Given the description of an element on the screen output the (x, y) to click on. 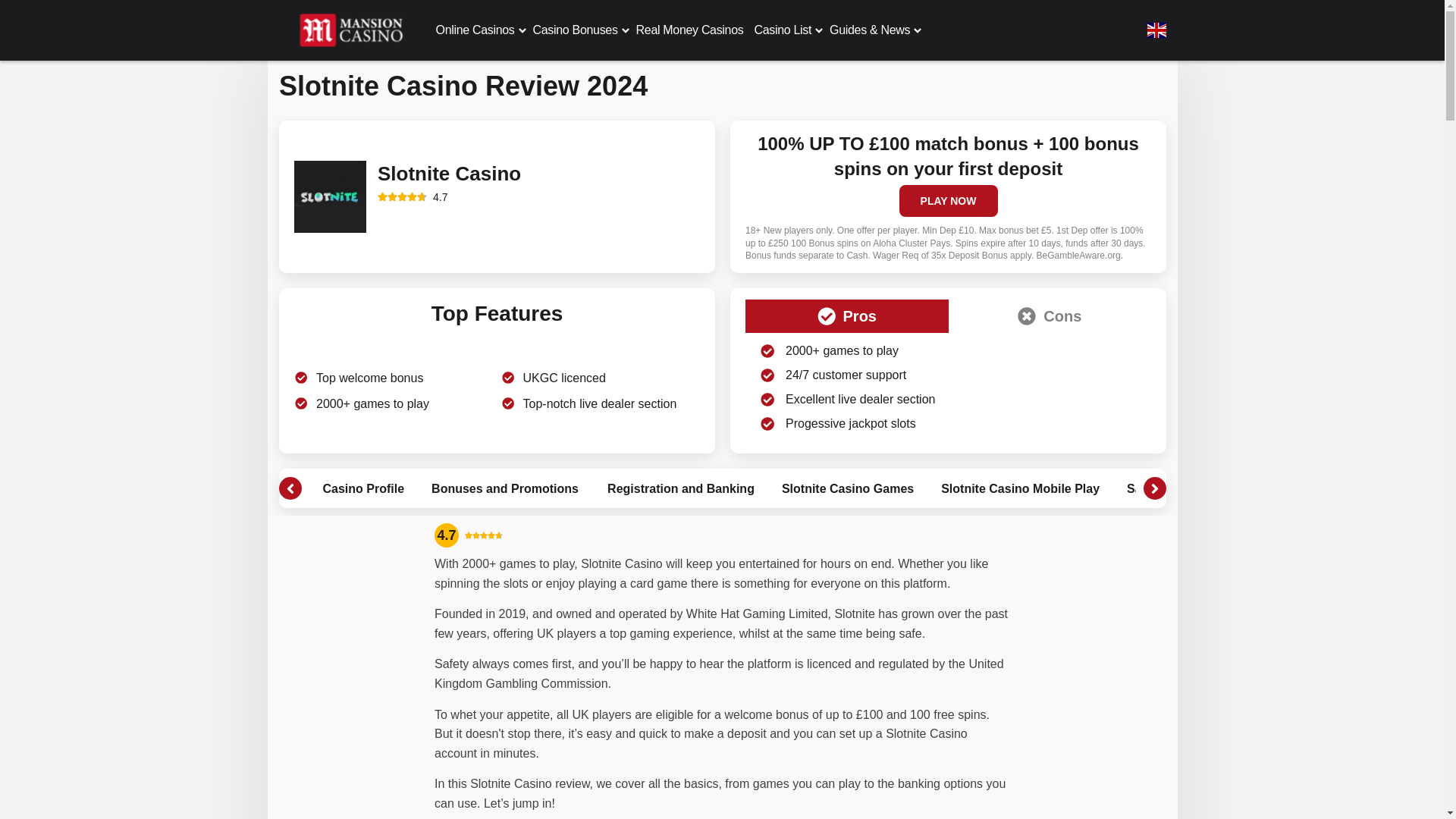
UK (1156, 29)
Real Money Casinos (689, 30)
Casino Bonuses (575, 30)
Slotnite Casino (330, 196)
Casino List (782, 30)
Online Casinos (475, 30)
